Given the description of an element on the screen output the (x, y) to click on. 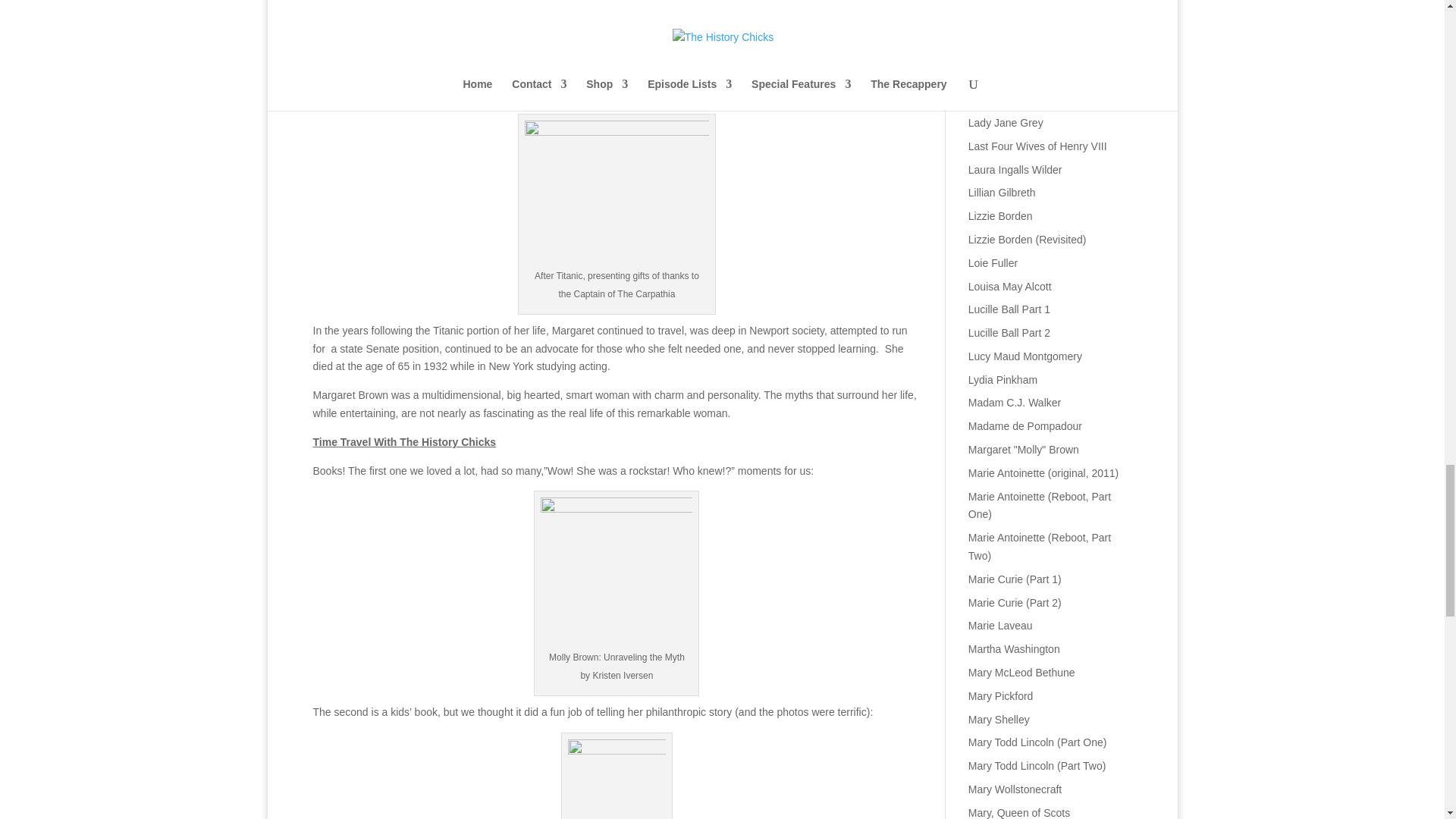
What a sweet sunbonnet! (1015, 169)
MB With Captain carpathia (616, 194)
MB Unraveling myth Kristen Iversen (616, 573)
MB Kathy Bates (616, 1)
MB sharing her fortunes (616, 779)
Fabulous to Tragic (1043, 472)
